Given the description of an element on the screen output the (x, y) to click on. 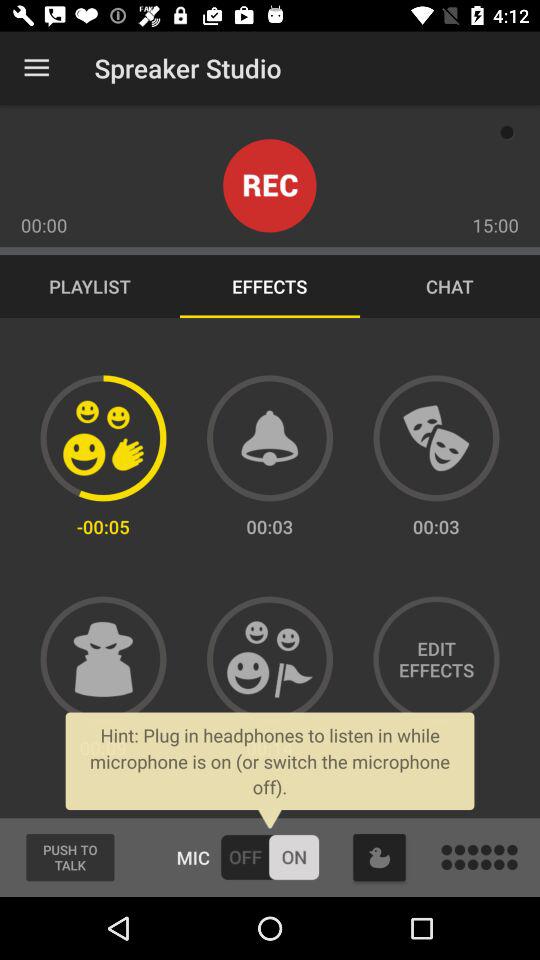
choose this effect (103, 659)
